Given the description of an element on the screen output the (x, y) to click on. 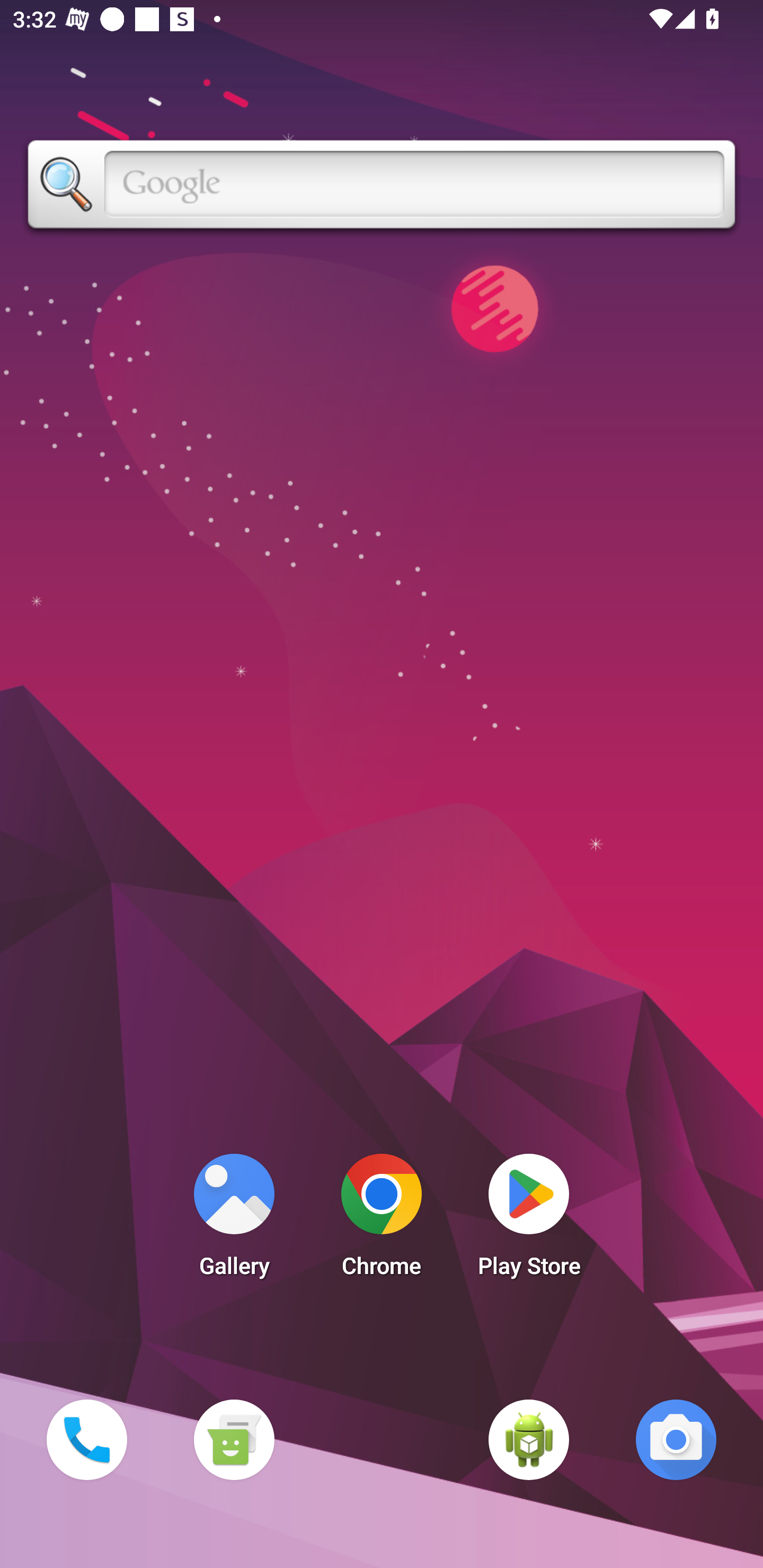
Gallery (233, 1220)
Chrome (381, 1220)
Play Store (528, 1220)
Phone (86, 1439)
Messaging (233, 1439)
WebView Browser Tester (528, 1439)
Camera (676, 1439)
